Given the description of an element on the screen output the (x, y) to click on. 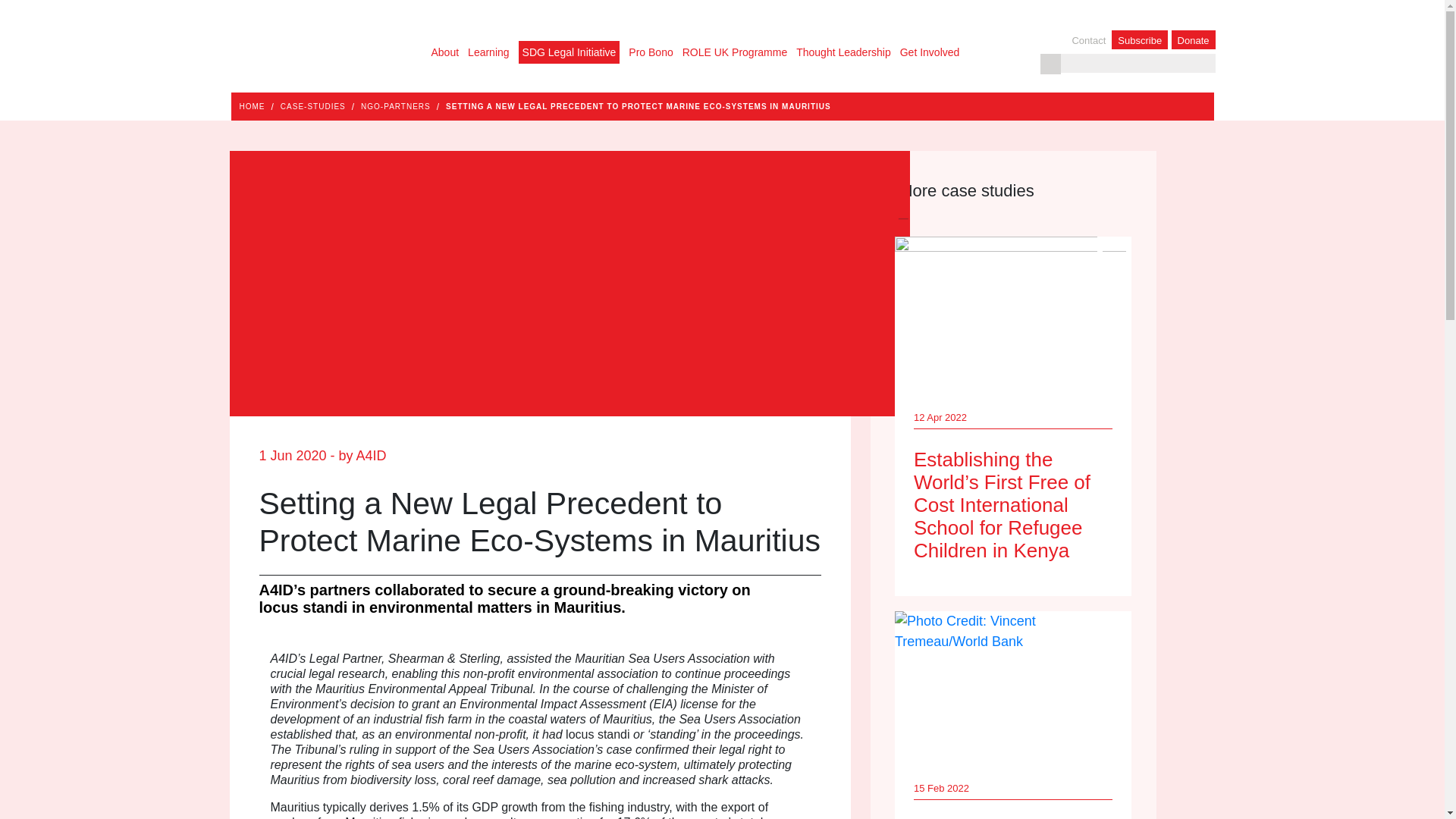
Contact  (1089, 40)
About (444, 51)
Donate (1193, 39)
Search Site (1051, 64)
A4ID (309, 39)
ROLE UK Programme (734, 51)
Learning (488, 51)
Get Involved (929, 51)
Subscribe (1139, 39)
